Given the description of an element on the screen output the (x, y) to click on. 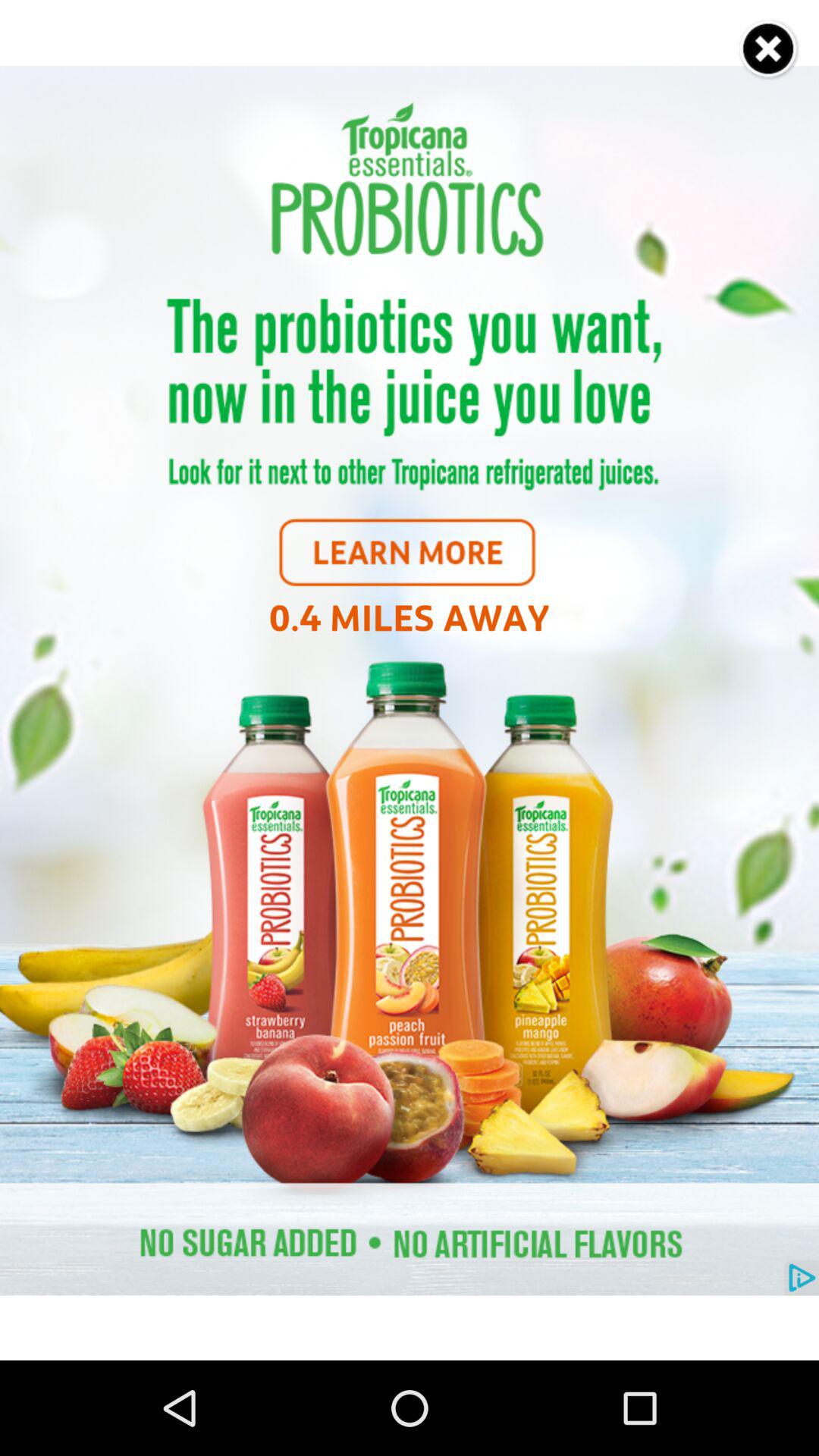
close the option (769, 49)
